Given the description of an element on the screen output the (x, y) to click on. 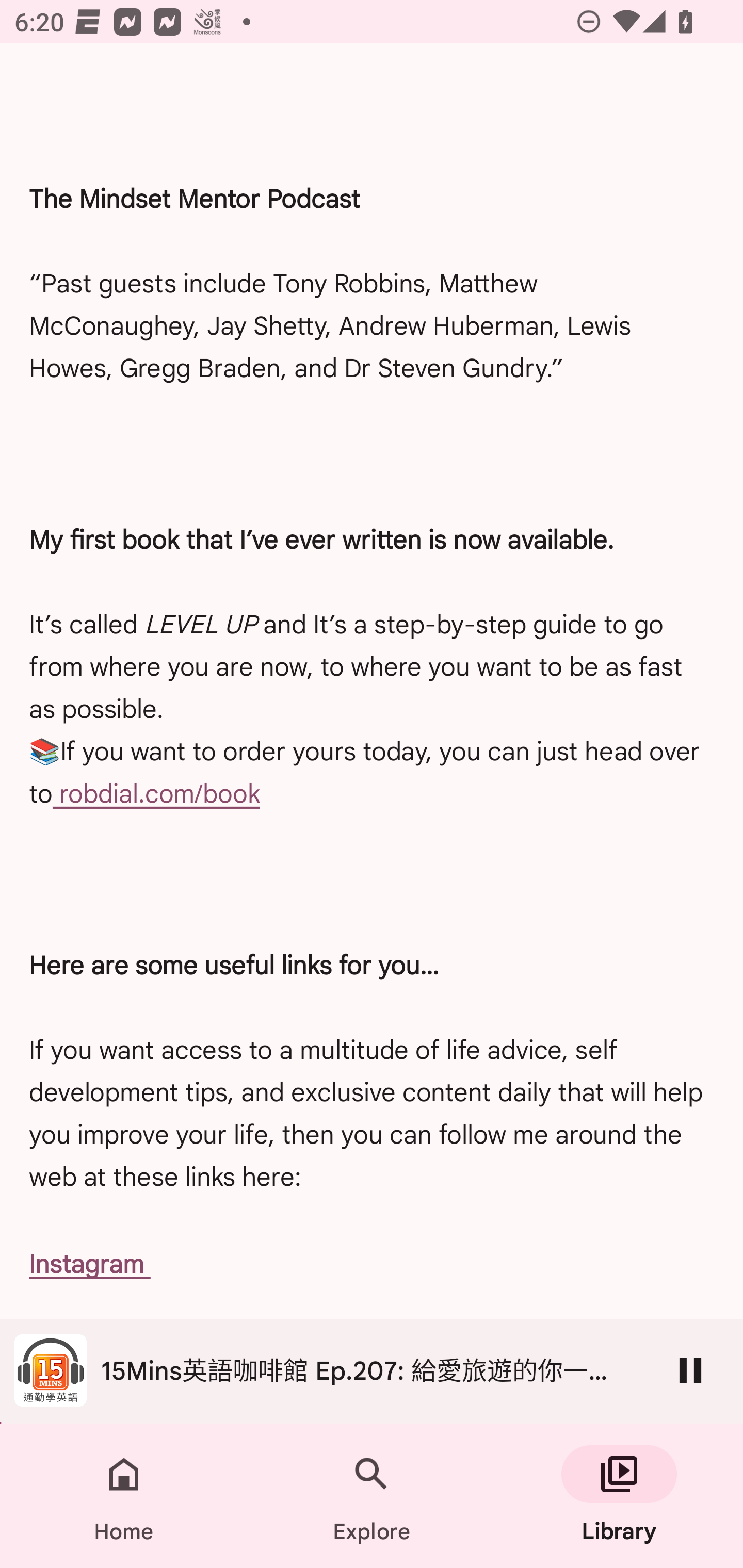
Pause (690, 1370)
Home (123, 1495)
Explore (371, 1495)
